Given the description of an element on the screen output the (x, y) to click on. 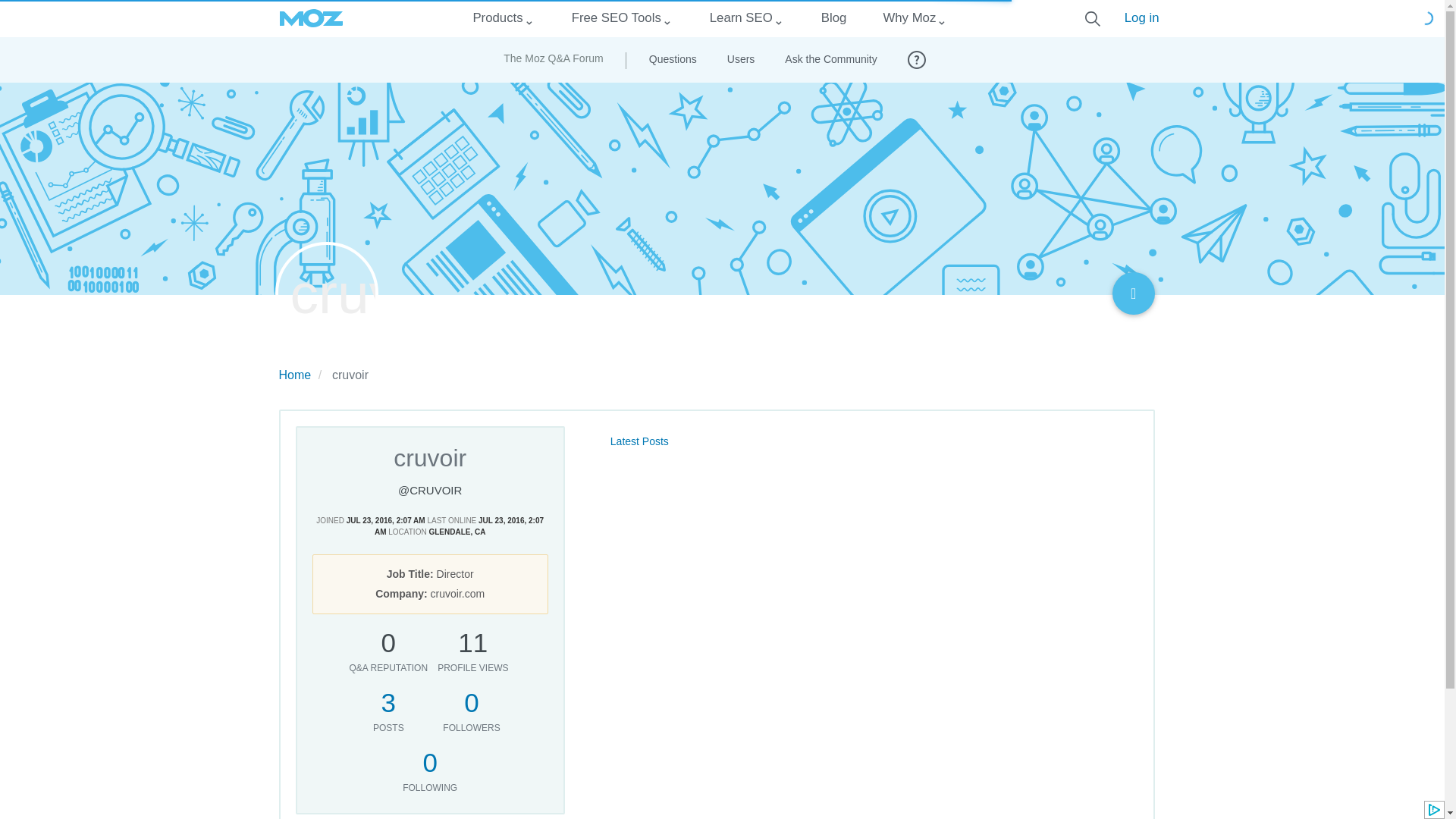
Moz logo (311, 18)
Moz Home (311, 18)
Products (496, 18)
Moz logo (311, 18)
